Given the description of an element on the screen output the (x, y) to click on. 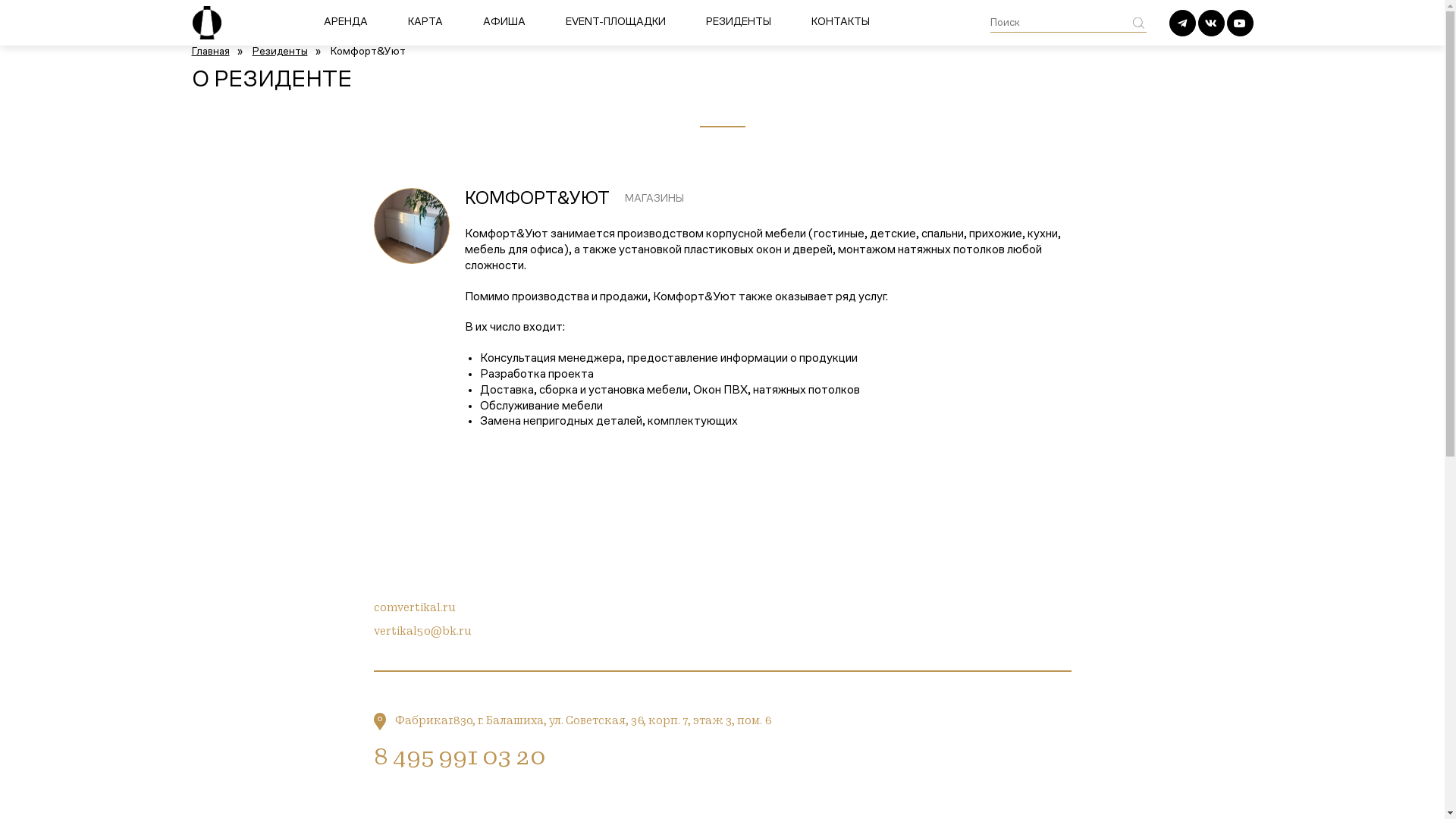
comvertikal.ru Element type: text (414, 608)
8 495 991 03 20 Element type: text (458, 758)
vertikal50@bk.ru Element type: text (421, 631)
